Given the description of an element on the screen output the (x, y) to click on. 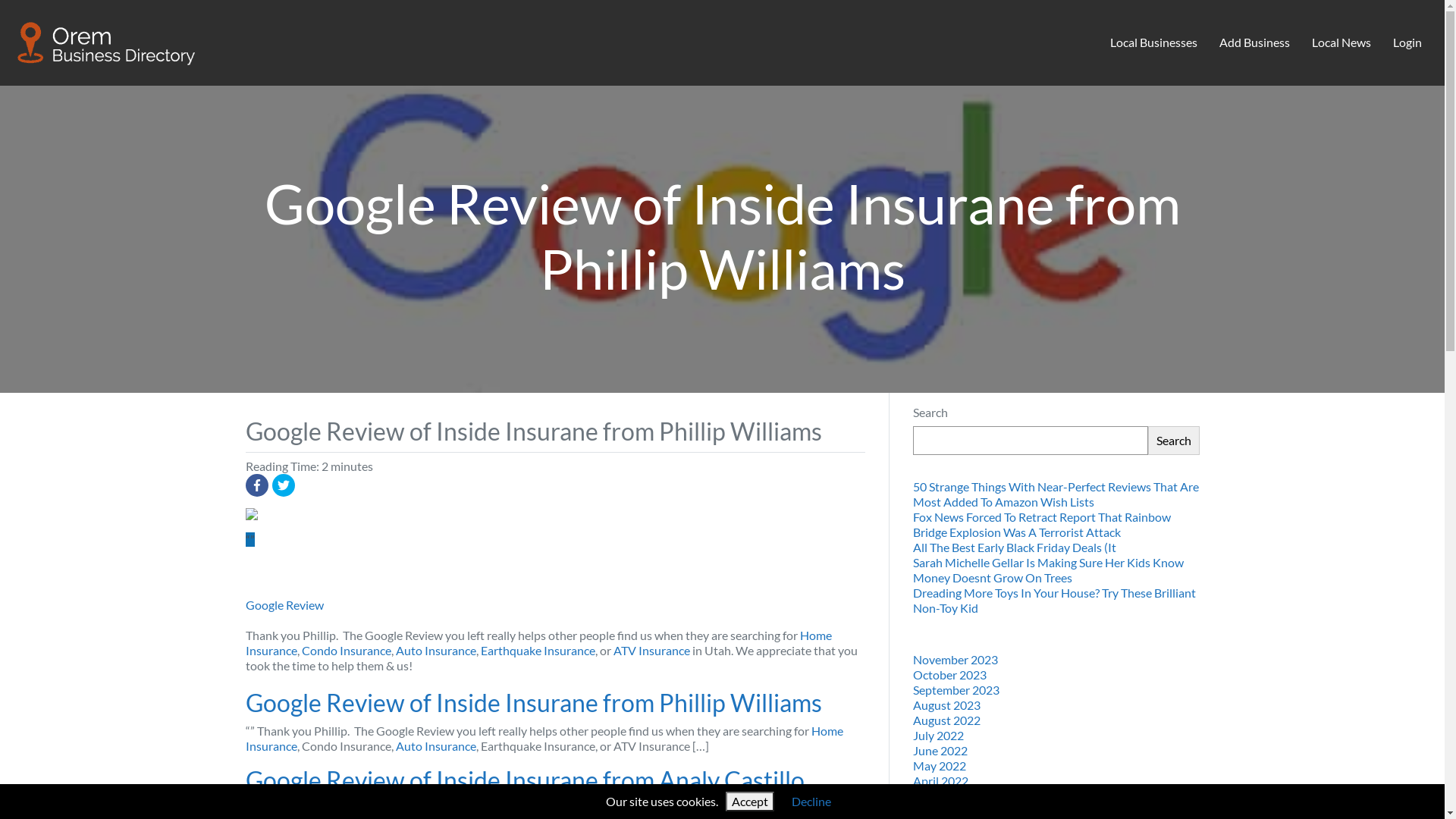
Auto Insurance Element type: text (435, 650)
April 2022 Element type: text (940, 780)
Orem Business Directory Element type: hover (106, 40)
ATV Insurance Element type: text (650, 650)
Home Insurance Element type: text (538, 642)
July 2022 Element type: text (938, 735)
Local Businesses Element type: text (1153, 42)
Google Review of Inside Insurane from Analy Castillo Element type: text (524, 779)
Add Business Element type: text (1254, 42)
October 2023 Element type: text (949, 674)
September 2023 Element type: text (956, 689)
Google Review Element type: text (284, 604)
Accept Element type: text (749, 801)
August 2023 Element type: text (946, 704)
All The Best Early Black Friday Deals (It Element type: text (1014, 546)
June 2022 Element type: text (940, 750)
Local News Element type: text (1340, 42)
Auto Insurance Element type: text (435, 745)
May 2022 Element type: text (939, 765)
Condo Insurance Element type: text (346, 650)
November 2023 Element type: text (955, 659)
March 2022 Element type: text (944, 795)
January 2022 Element type: text (948, 810)
Decline Element type: text (811, 800)
Login Element type: text (1406, 42)
Google Review of Inside Insurane from Phillip Williams Element type: text (533, 702)
August 2022 Element type: text (946, 719)
Home Insurance Element type: text (544, 738)
Earthquake Insurance Element type: text (537, 650)
Search Element type: text (1173, 440)
